Given the description of an element on the screen output the (x, y) to click on. 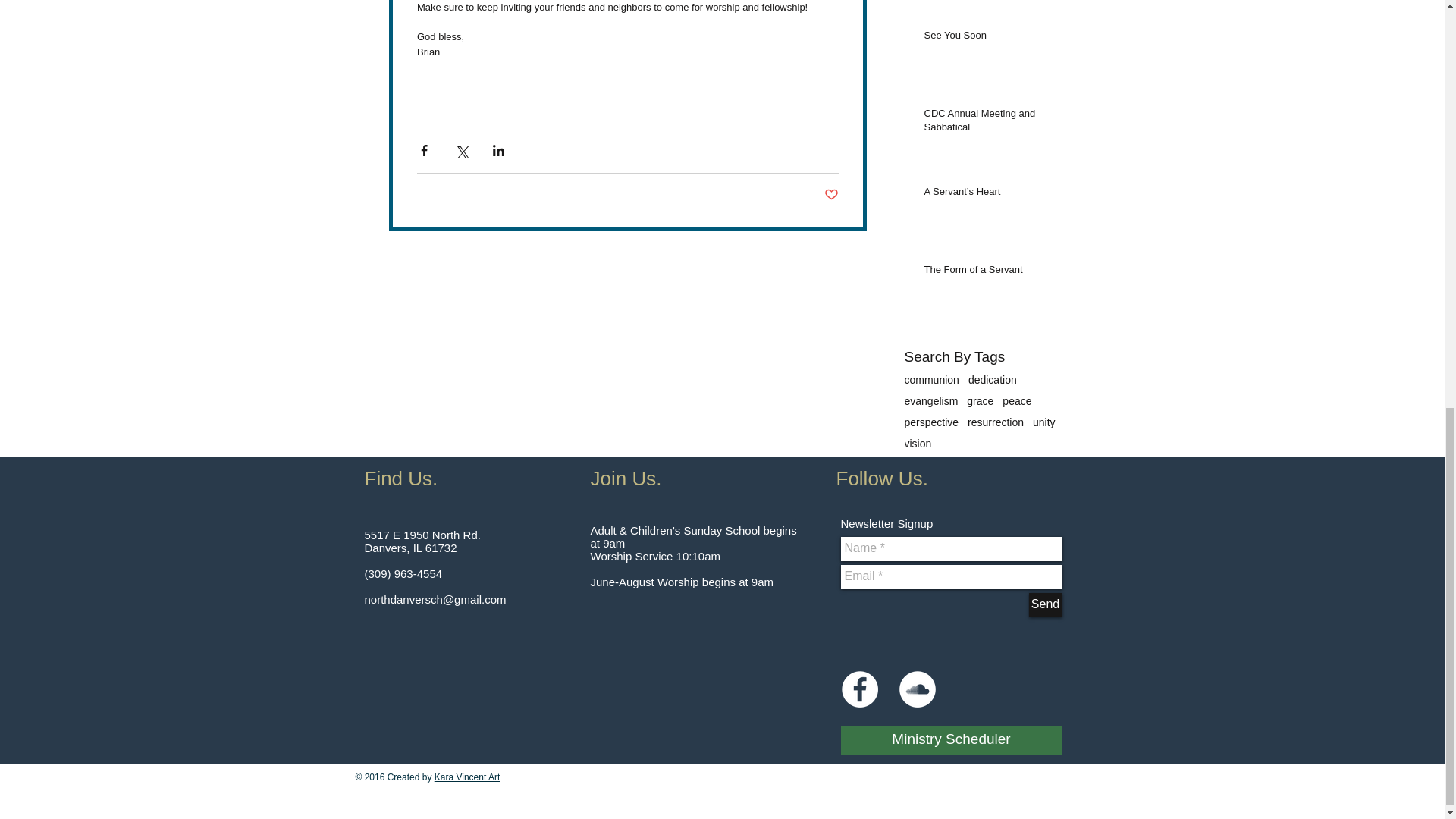
resurrection (995, 422)
perspective (931, 422)
communion (931, 379)
See You Soon (992, 38)
grace (979, 400)
evangelism (931, 400)
Ministry Scheduler (950, 739)
Post not marked as liked (831, 195)
CDC Annual Meeting and Sabbatical (992, 123)
The Form of a Servant (992, 272)
